Given the description of an element on the screen output the (x, y) to click on. 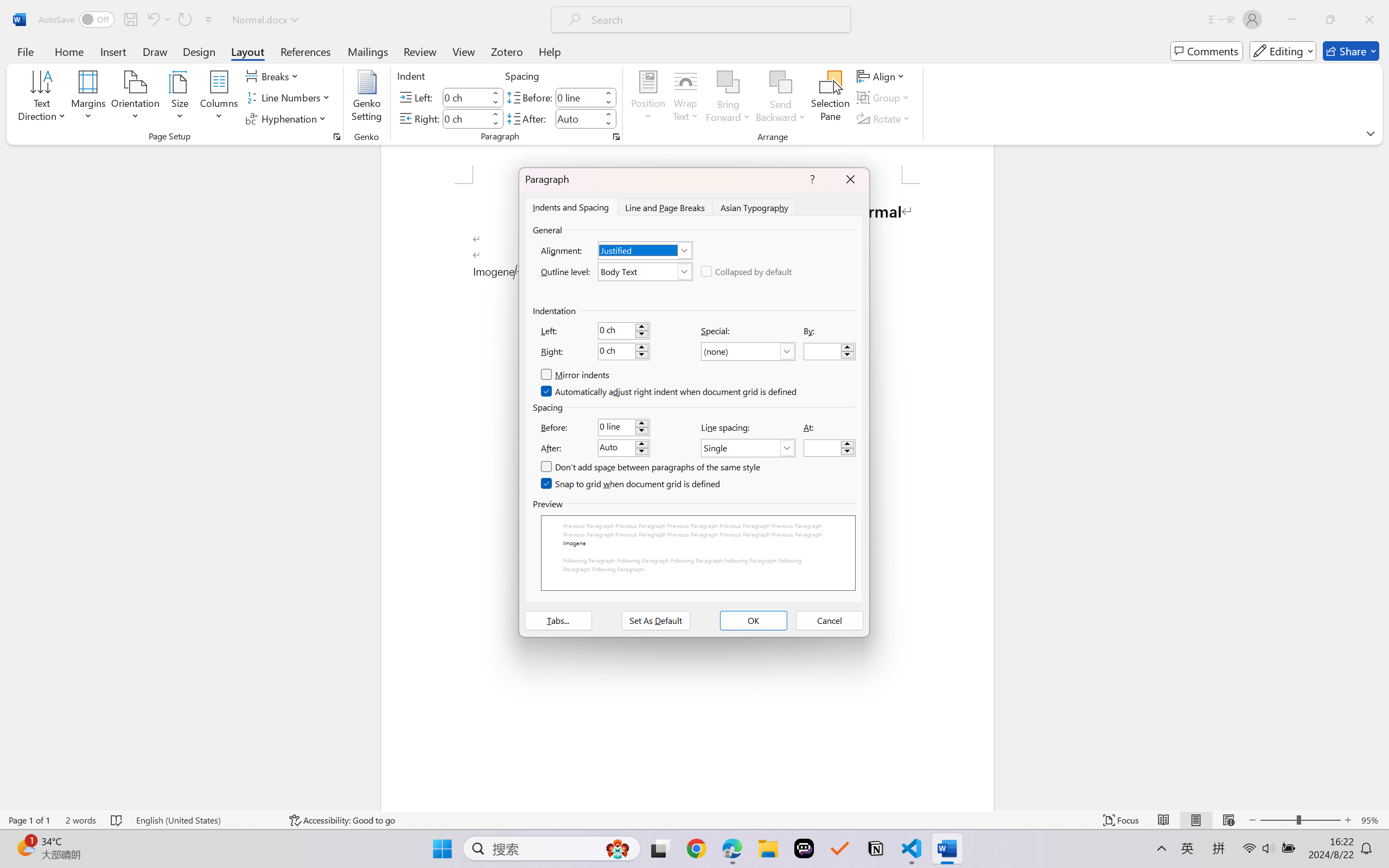
Snap to grid when document grid is defined (631, 483)
Notion (875, 848)
Asian Typography (754, 206)
Help (549, 51)
Hyphenation (287, 118)
Mirror indents (575, 374)
OK (753, 620)
Orientation (135, 97)
